Given the description of an element on the screen output the (x, y) to click on. 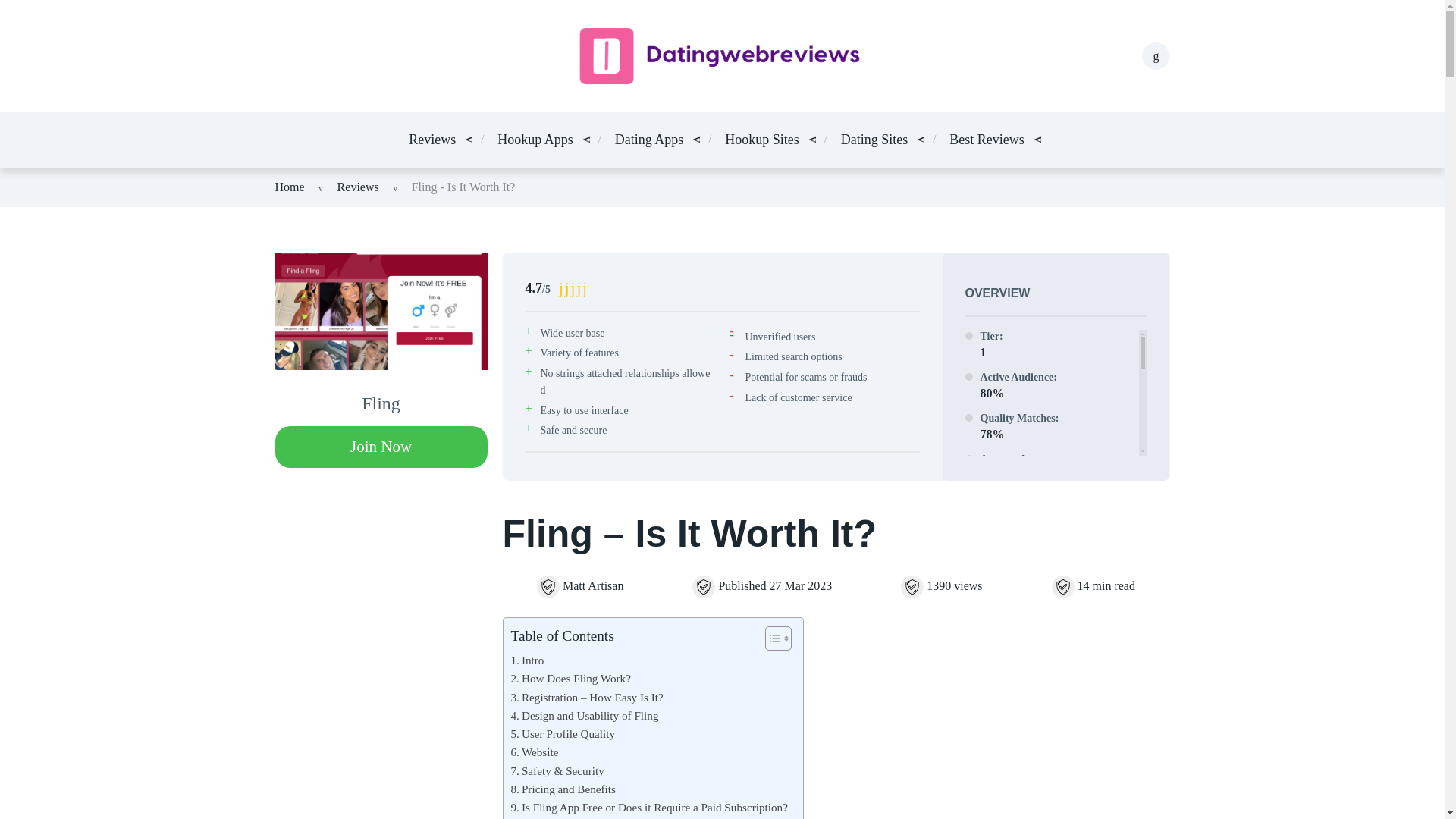
Reviews (357, 186)
Design and Usability of Fling (585, 715)
Fling - Is It Worth It? (463, 186)
Pricing and Benefits (563, 789)
Is Fling App Free or Does it Require a Paid Subscription? (649, 807)
Intro (527, 660)
Home (289, 186)
Website (535, 751)
Benefits of Fling Plus (589, 818)
How Does Fling Work? (570, 678)
